Given the description of an element on the screen output the (x, y) to click on. 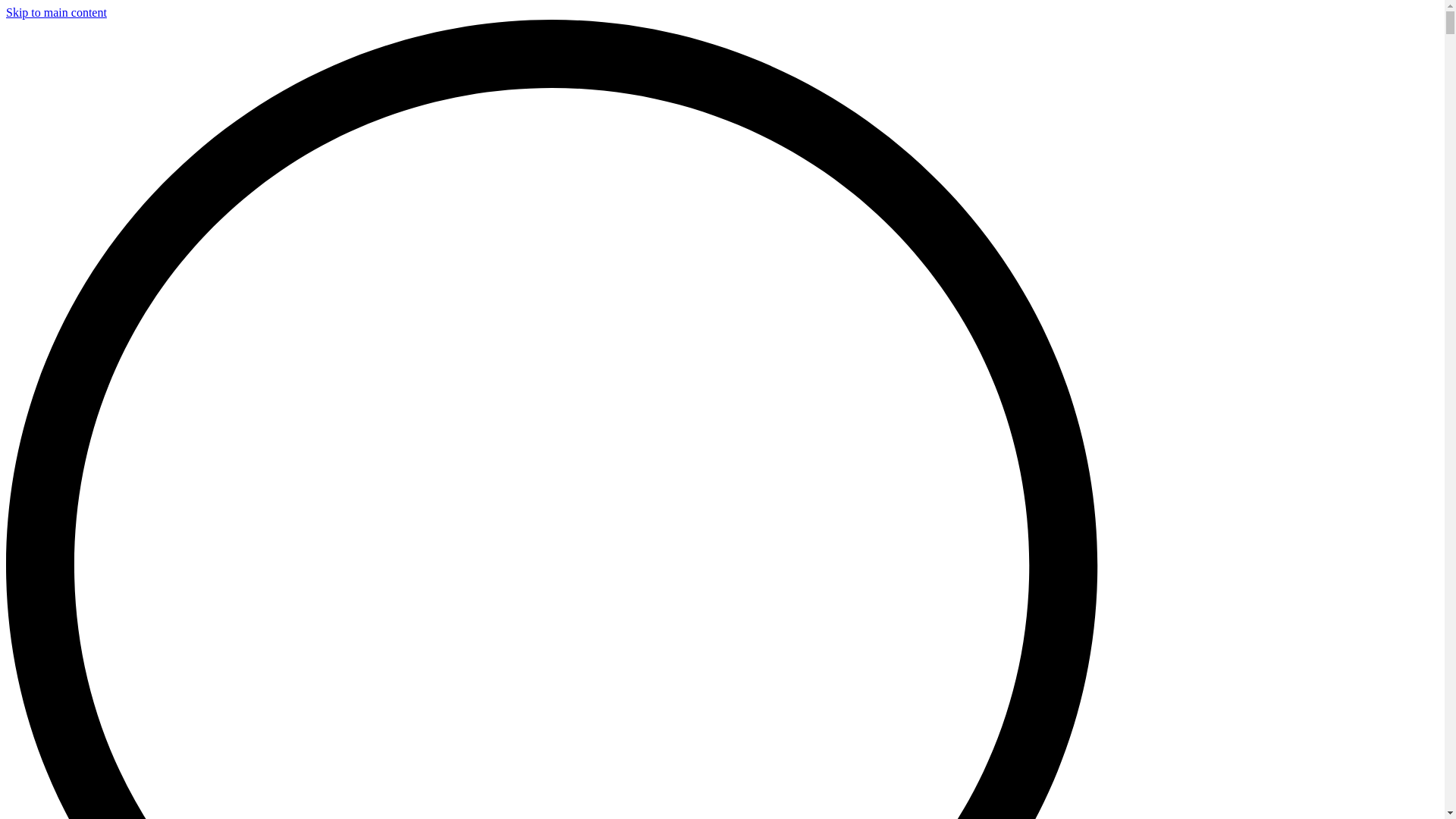
Skip to main content (55, 11)
